Given the description of an element on the screen output the (x, y) to click on. 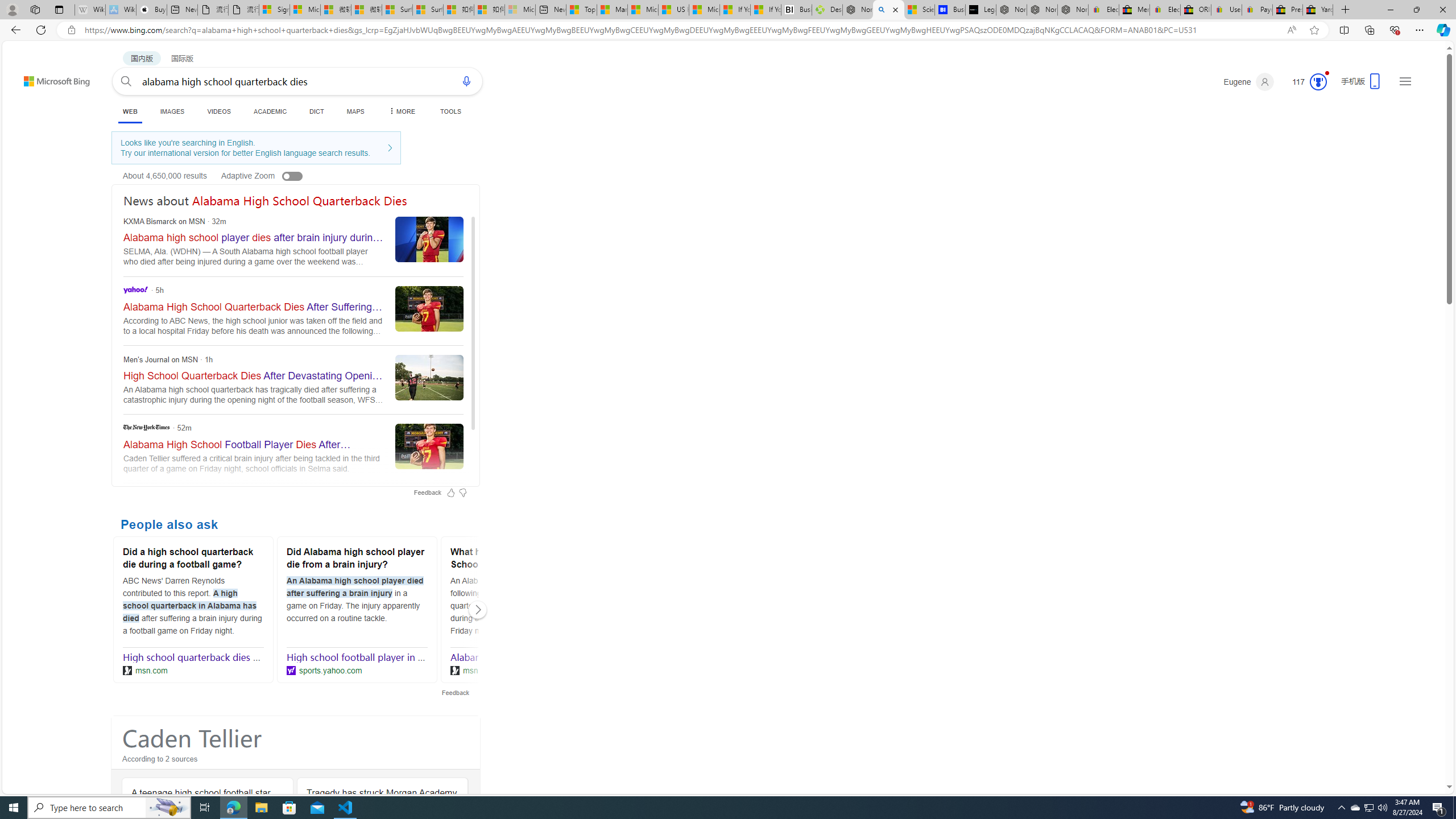
Microsoft account | Account Checkup - Sleeping (519, 9)
ACADEMIC (269, 111)
Men's Journal on MSN (293, 379)
alabama high school quarterback dies - Search (887, 9)
Payments Terms of Use | eBay.com (1256, 9)
DICT (316, 111)
Adaptive Zoom (274, 175)
